Given the description of an element on the screen output the (x, y) to click on. 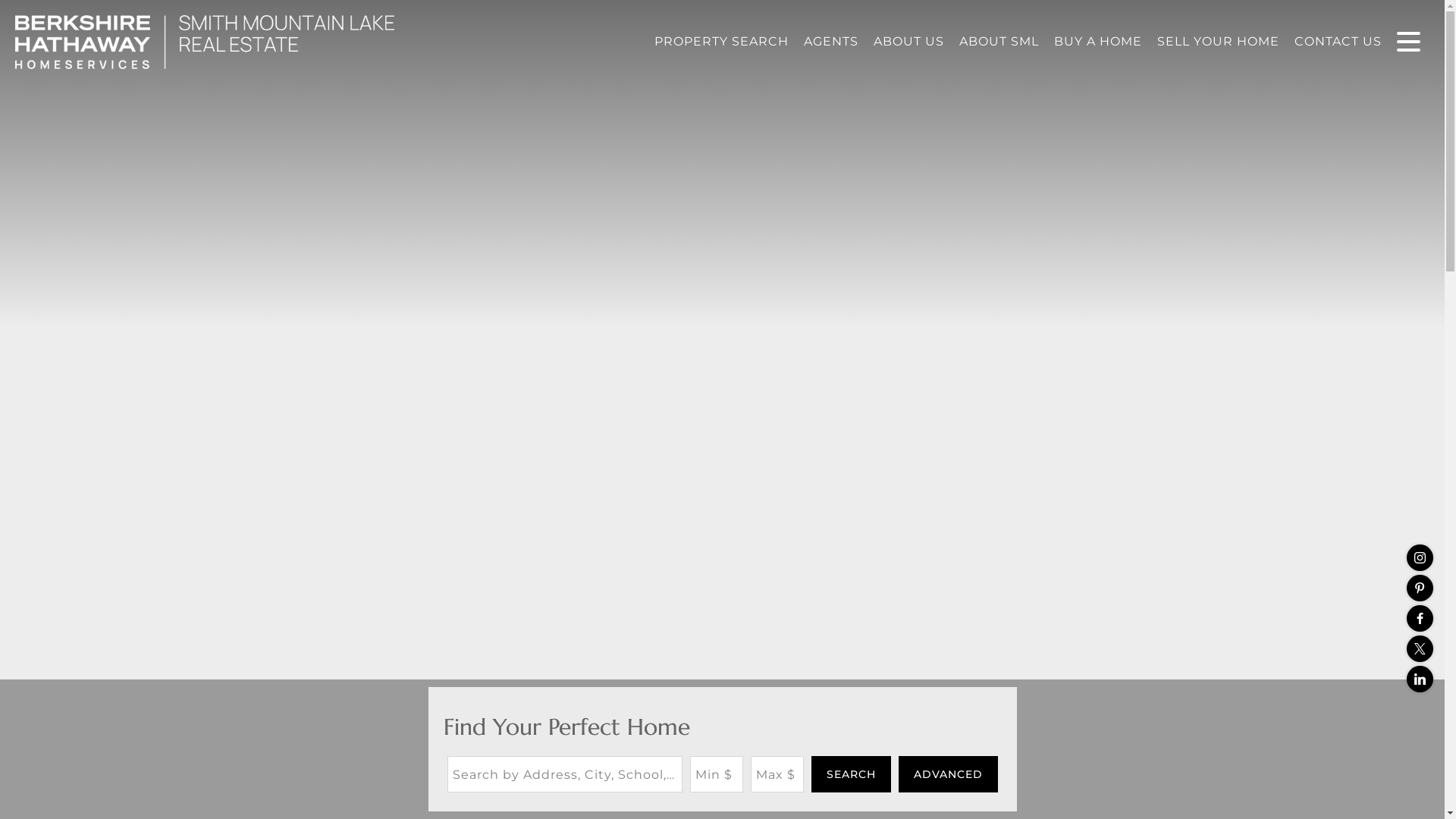
ABOUT SML (999, 41)
AGENTS (831, 41)
BUY A HOME (1098, 41)
Visit us on LinkedIn (1419, 678)
Visit us on Pinterest (1419, 587)
PROPERTY SEARCH (721, 41)
Visit us on Facebook (1419, 618)
Visit us on Instagram (1419, 557)
ABOUT US (909, 41)
